Given the description of an element on the screen output the (x, y) to click on. 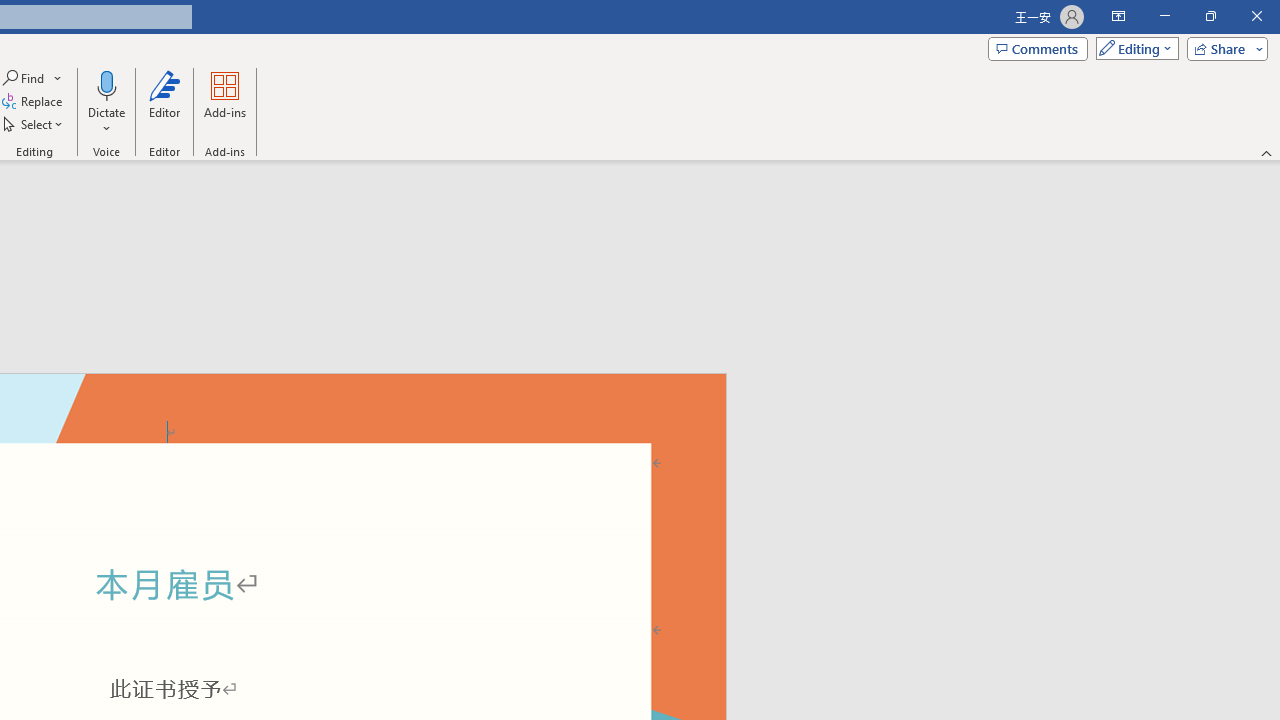
More Options (106, 121)
Dictate (106, 84)
Share (1223, 48)
Editor (164, 102)
Close (1256, 16)
Dictate (106, 102)
Restore Down (1210, 16)
Mode (1133, 47)
Ribbon Display Options (1118, 16)
Collapse the Ribbon (1267, 152)
Comments (1038, 48)
Minimize (1164, 16)
